Given the description of an element on the screen output the (x, y) to click on. 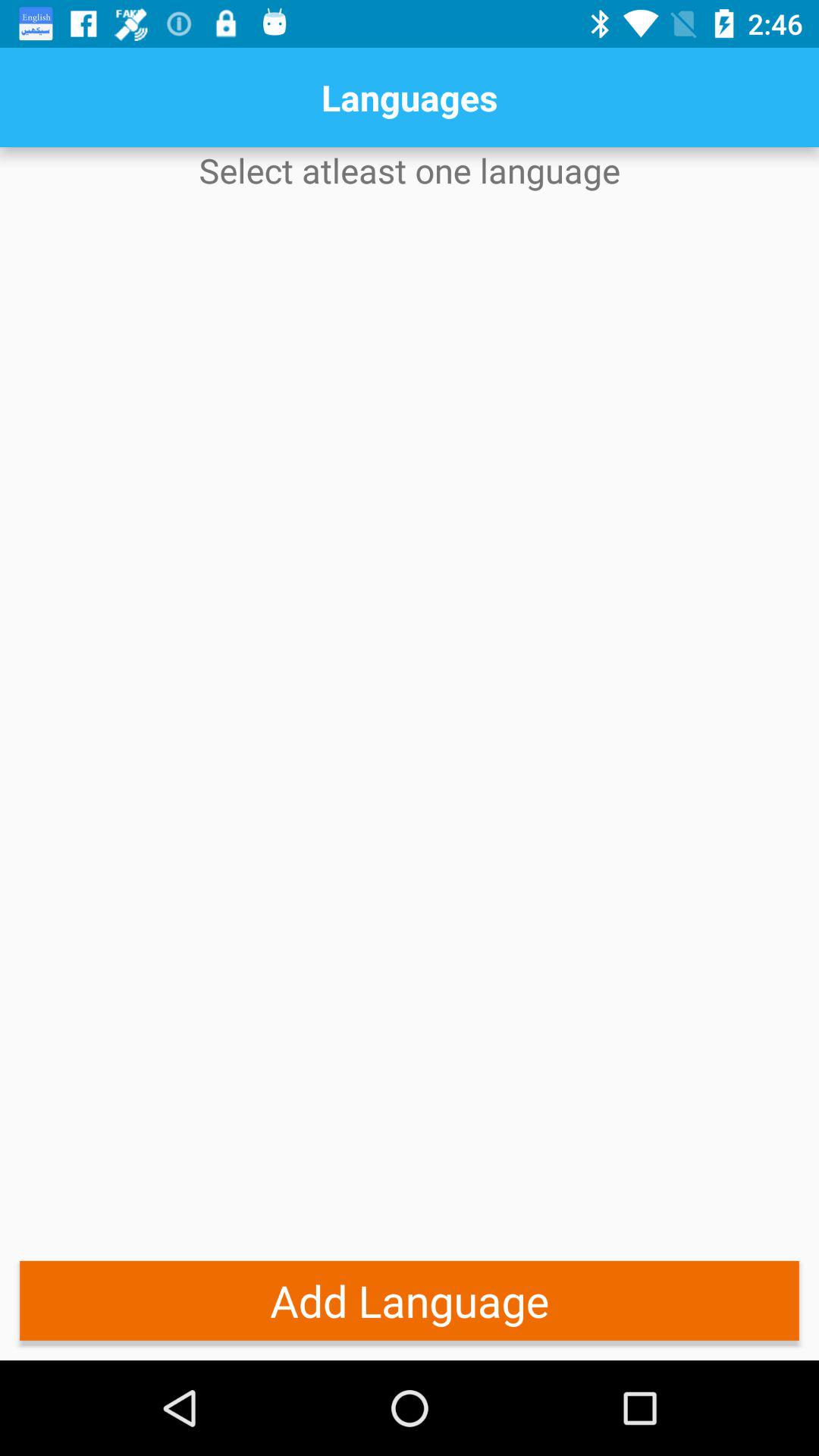
press the item below select atleast one app (409, 1300)
